Given the description of an element on the screen output the (x, y) to click on. 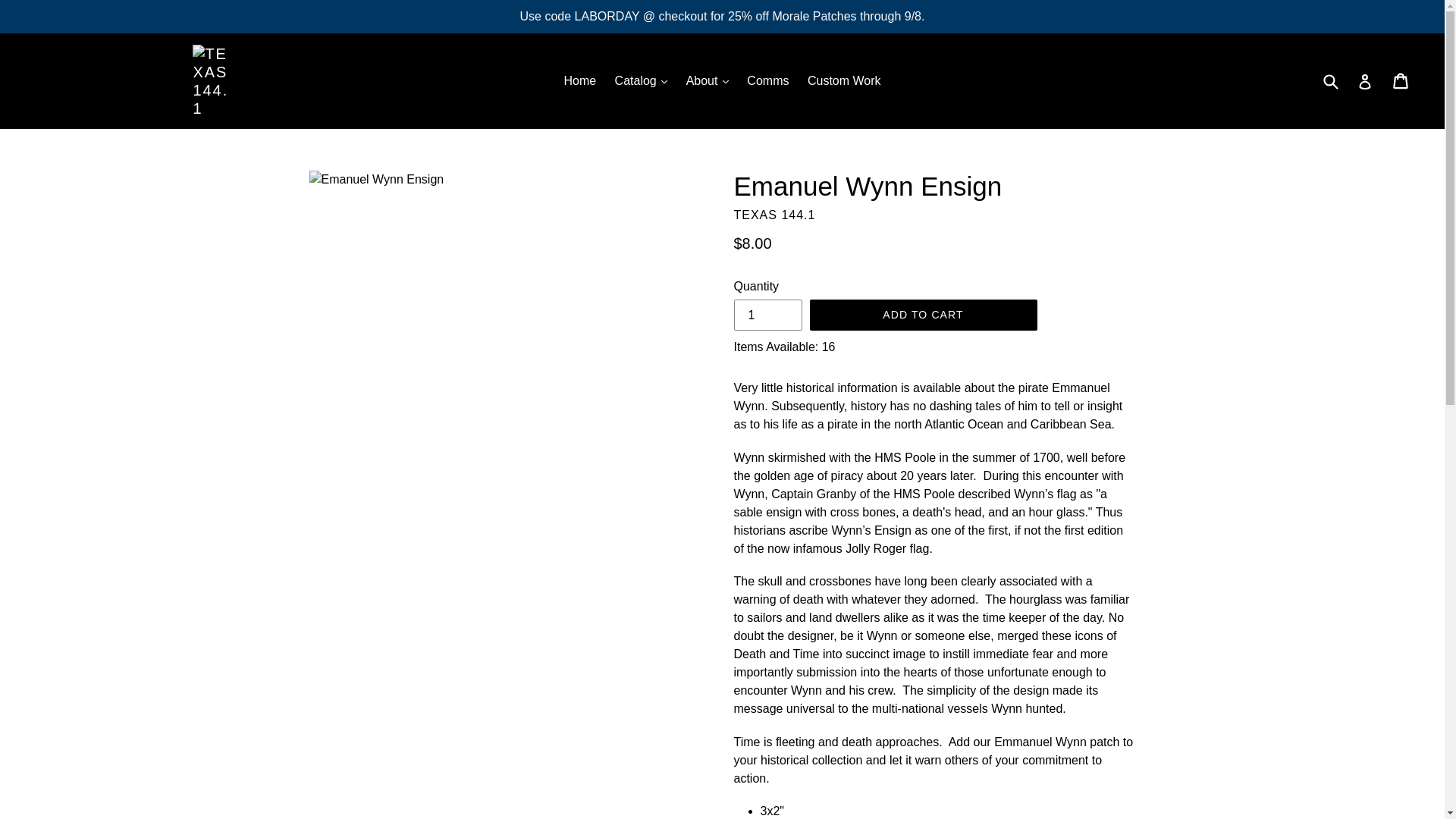
Custom Work (843, 80)
Comms (767, 80)
1 (767, 314)
Home (580, 80)
